Given the description of an element on the screen output the (x, y) to click on. 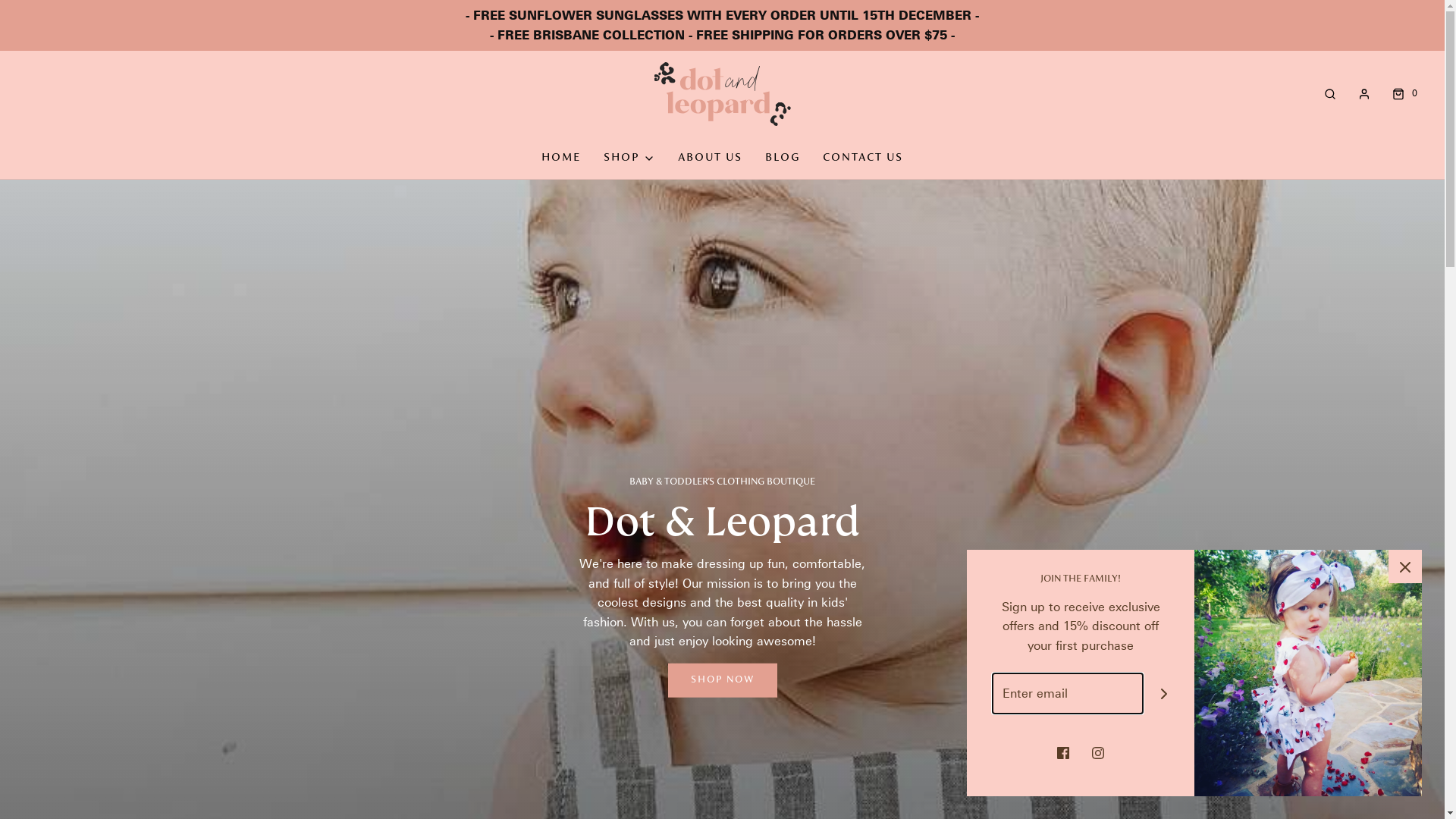
CONTACT US Element type: text (862, 158)
0 Element type: text (1402, 93)
Search Element type: hover (1329, 93)
Instagram icon Element type: text (1098, 752)
HOME Element type: text (560, 158)
Log in Element type: hover (1364, 93)
SHOP Element type: text (629, 158)
BLOG Element type: text (782, 158)
Facebook icon Element type: text (1063, 752)
SHOP NOW Element type: text (721, 680)
ABOUT US Element type: text (709, 158)
